Given the description of an element on the screen output the (x, y) to click on. 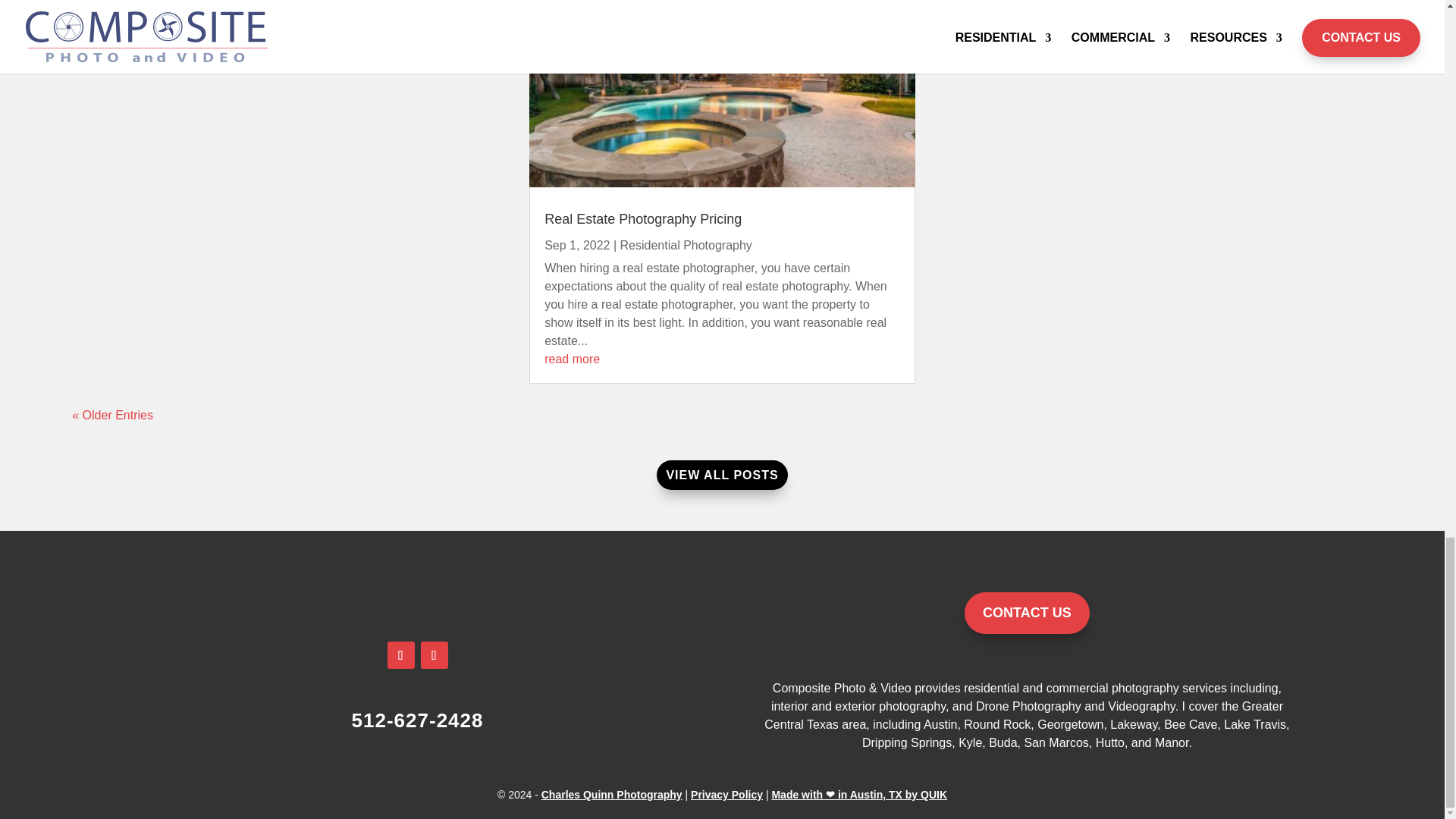
Follow on Facebook (400, 655)
Follow on Instagram (434, 655)
